Given the description of an element on the screen output the (x, y) to click on. 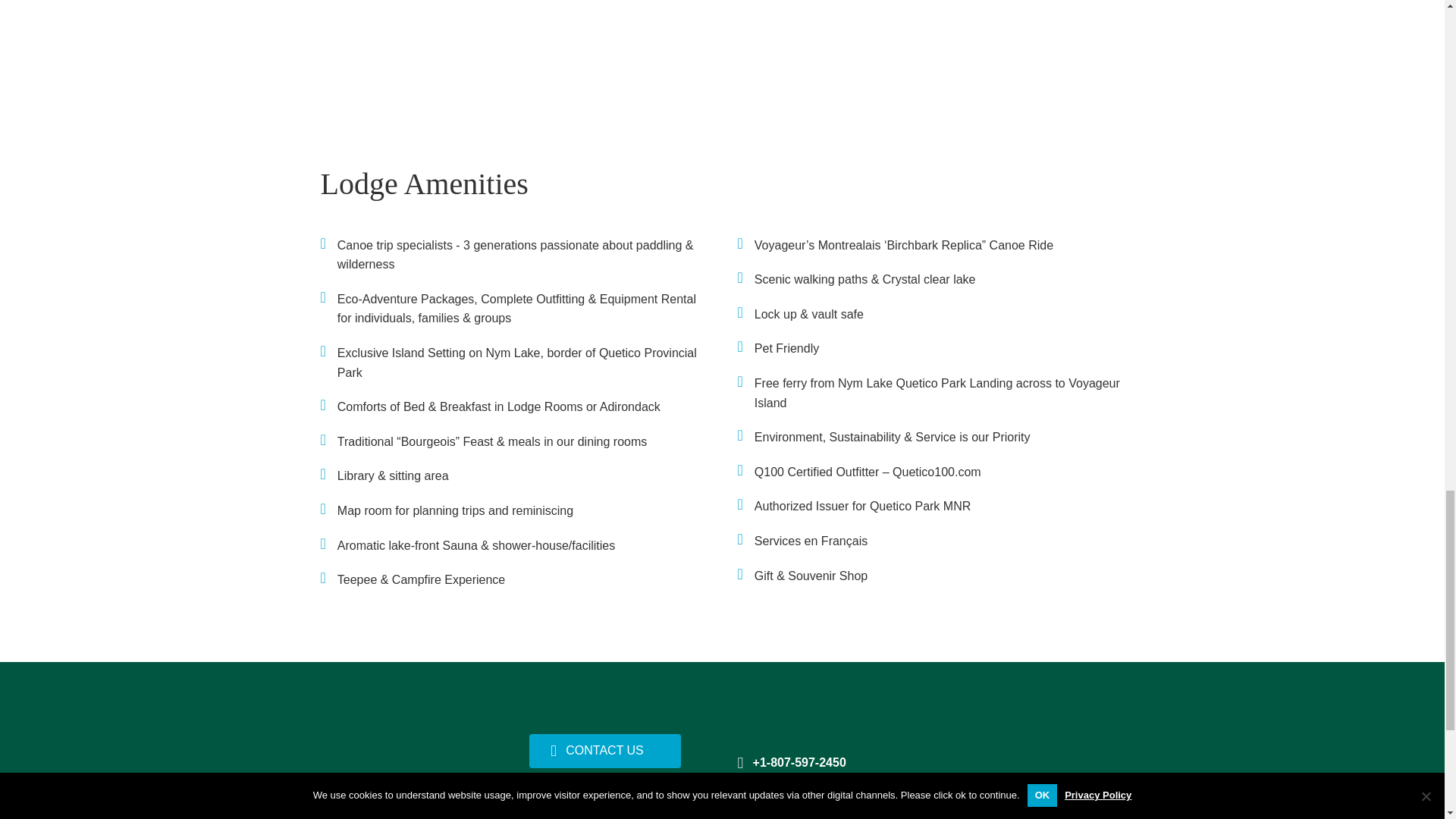
Bowsman White (1027, 770)
ONTARIO TOURISM 2013 VOYAGEUR WILDERNESS PROGRAM SHOOT (449, 58)
Portrait Logo (401, 773)
ONTARIO TOURISM 2013 VOYAGEUR WILDERNESS PROGRAM SHOOT (994, 58)
ONTARIO TOURISM 2013 VOYAGEUR WILDERNESS PROGRAM SHOOT (722, 58)
